Given the description of an element on the screen output the (x, y) to click on. 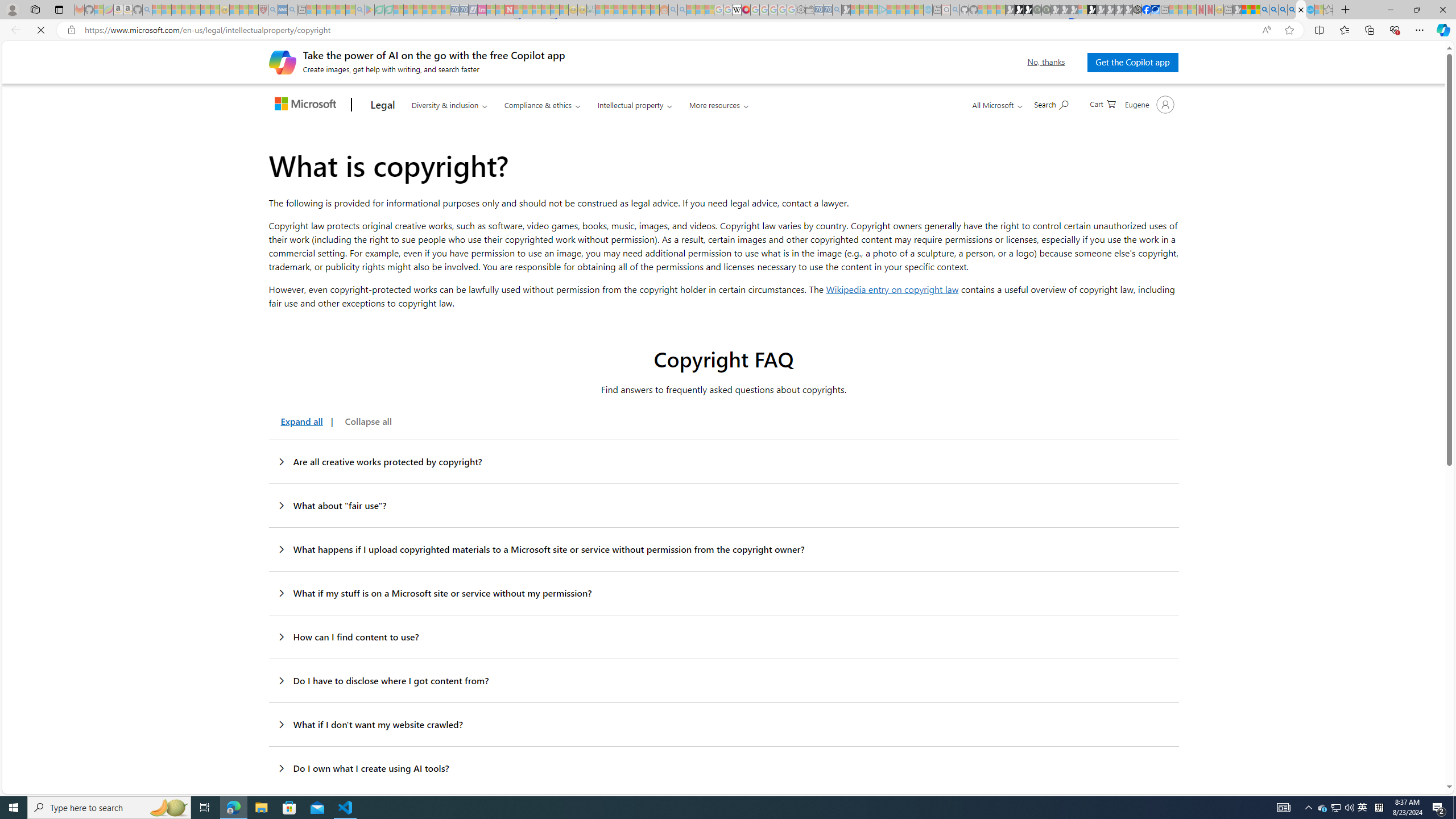
Do I have to disclose where I got content from? (723, 680)
Kinda Frugal - MSN - Sleeping (636, 9)
